Given the description of an element on the screen output the (x, y) to click on. 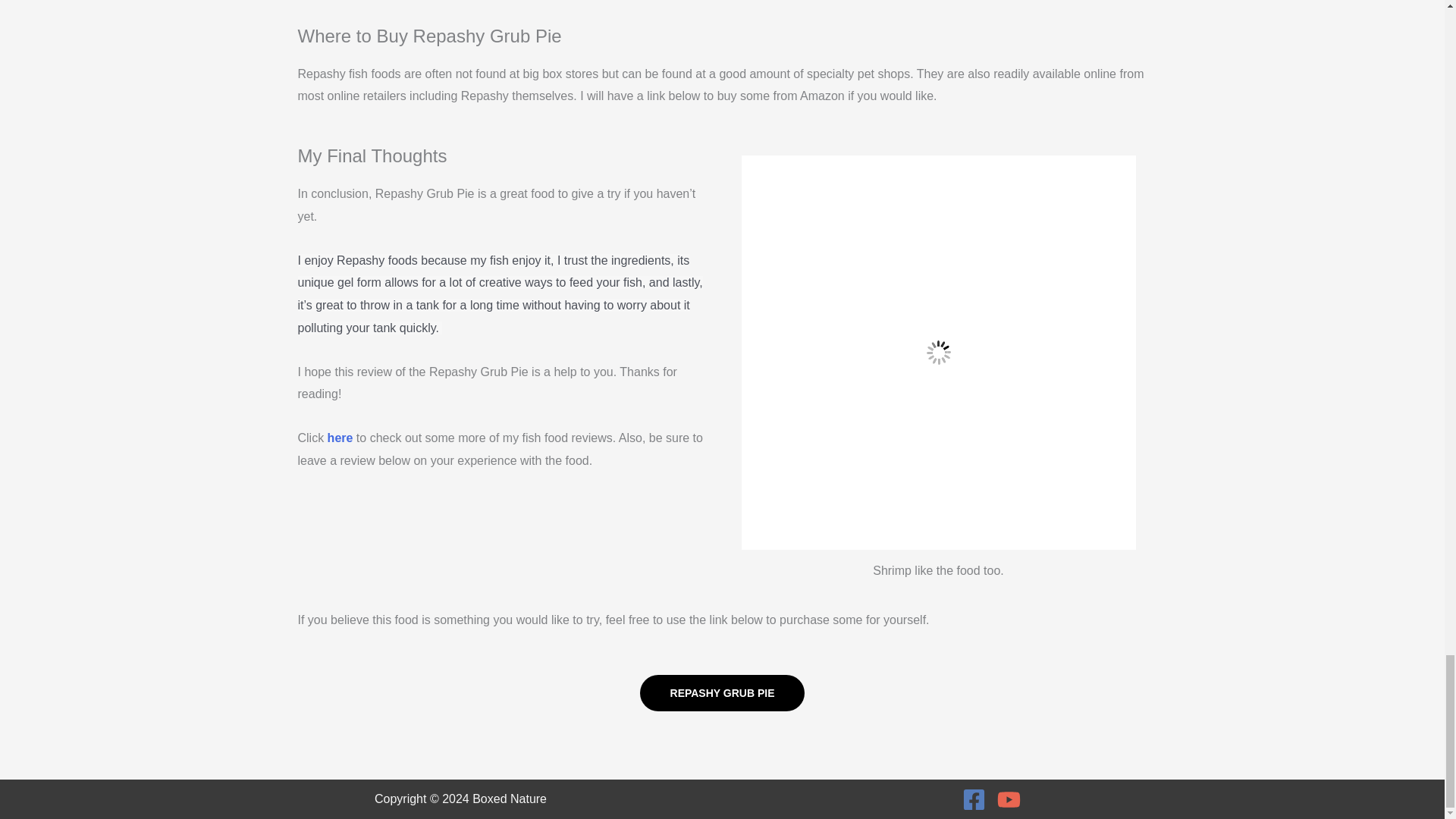
REPASHY GRUB PIE (722, 692)
here (340, 437)
